Given the description of an element on the screen output the (x, y) to click on. 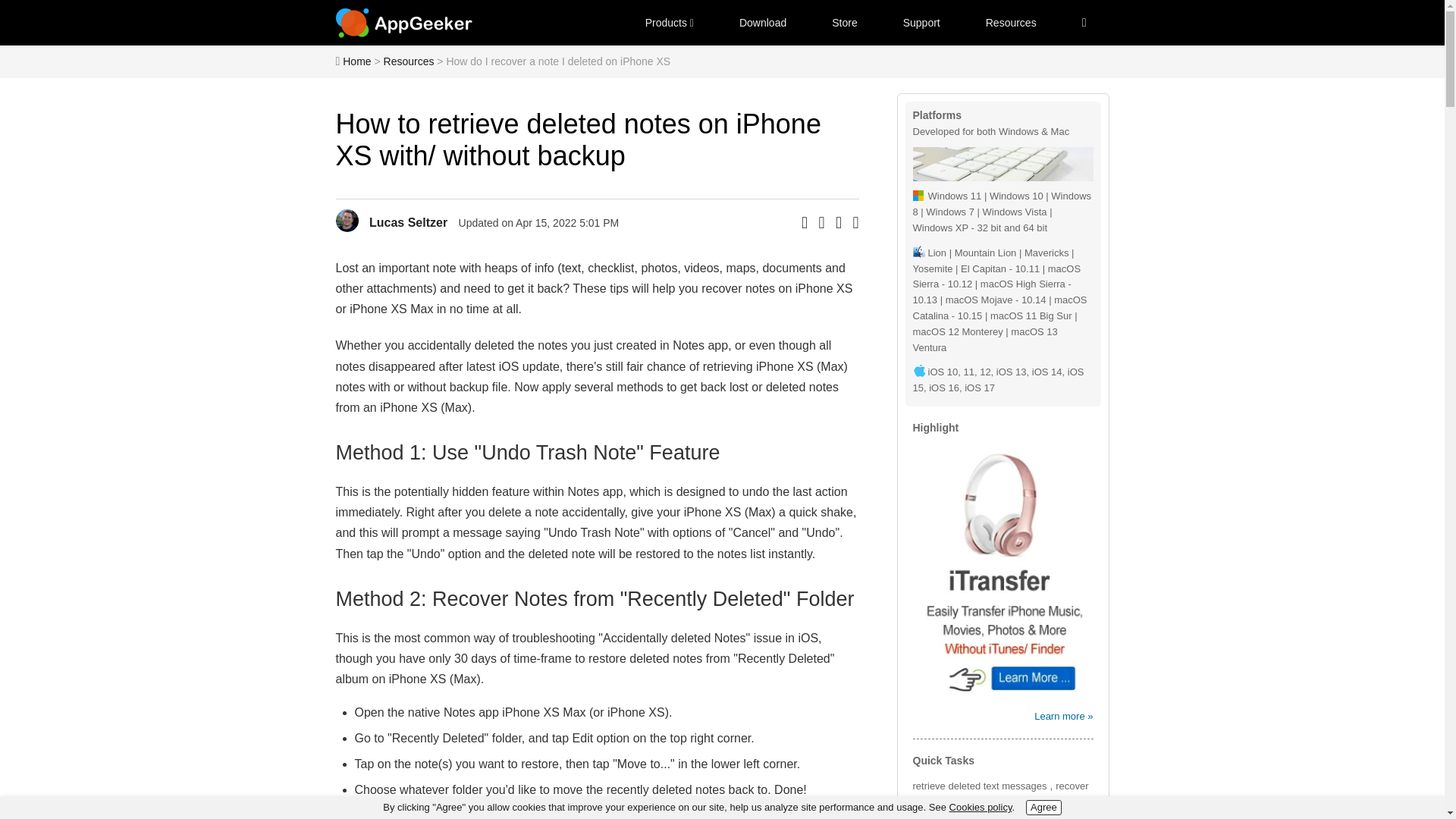
Home (356, 61)
Resources (1010, 22)
Support (921, 22)
Resources (408, 61)
Products (669, 22)
Download (762, 22)
Store (844, 22)
